Given the description of an element on the screen output the (x, y) to click on. 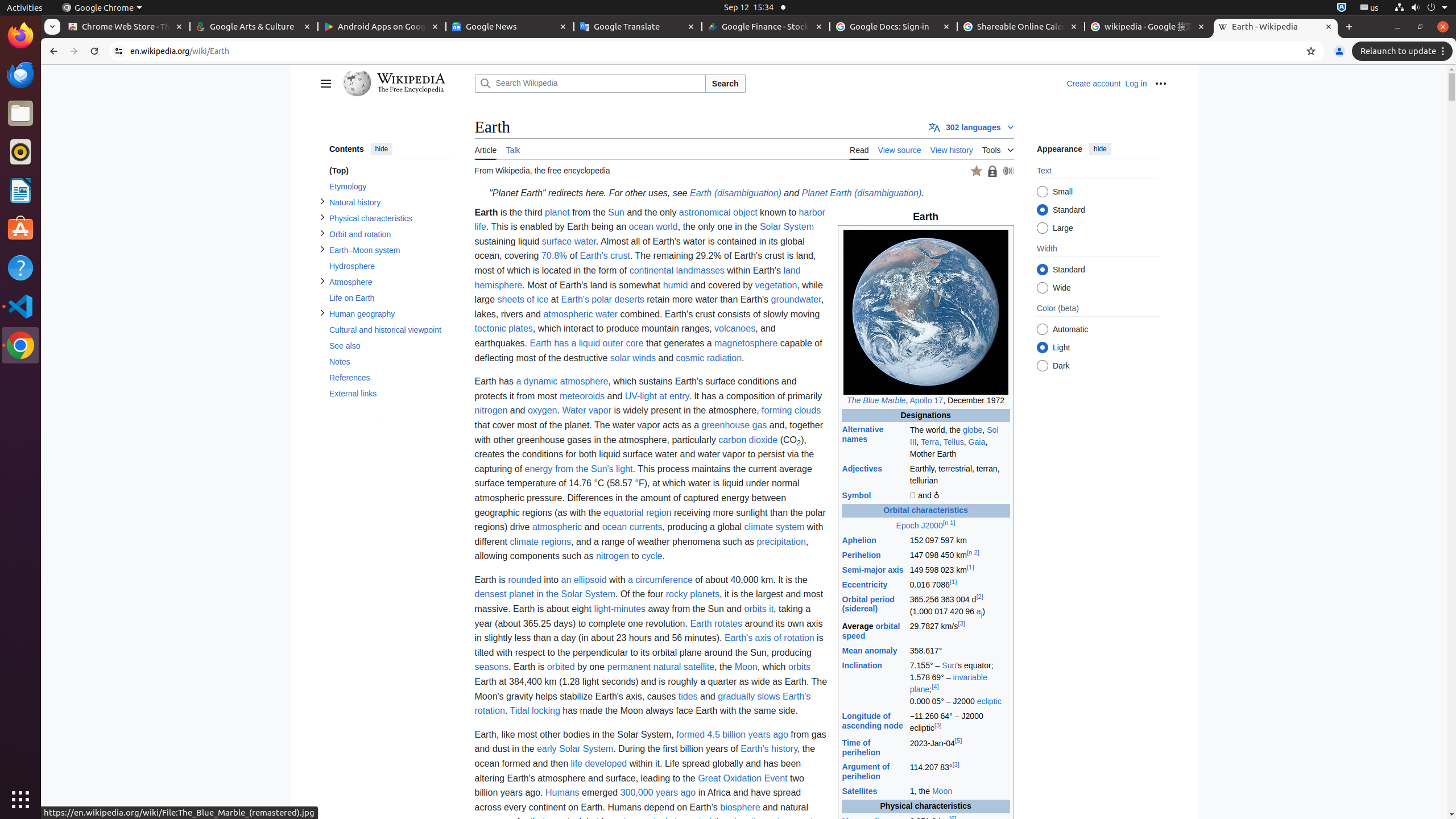
humid Element type: link (675, 284)
Page semi-protected Element type: link (992, 170)
greenhouse gas Element type: link (734, 424)
orbited Element type: link (560, 667)
ocean currents Element type: link (631, 527)
